Given the description of an element on the screen output the (x, y) to click on. 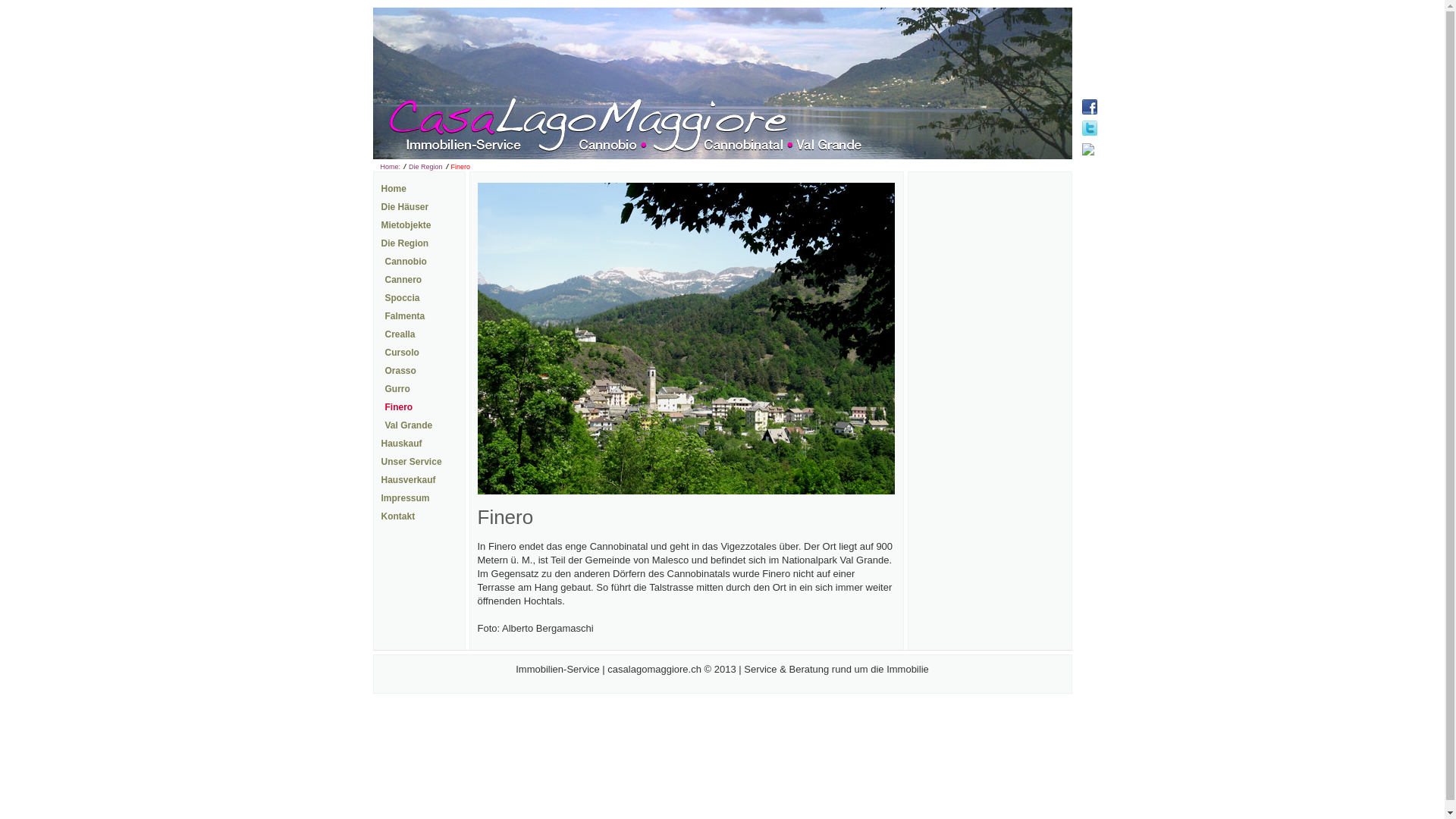
Falmenta Element type: text (405, 315)
3 Element type: text (692, 164)
Facebook Element type: hover (1088, 106)
Hausverkauf Element type: text (407, 479)
Cursolo Element type: text (402, 352)
5 Element type: text (729, 164)
Unser Service Element type: text (410, 461)
Home: Element type: text (390, 166)
Crealla Element type: text (400, 334)
Orasso Element type: text (400, 370)
6 Element type: text (748, 164)
Val Grande Element type: text (409, 425)
Cannero Element type: text (403, 279)
Hauskauf Element type: text (400, 443)
4 Element type: text (710, 164)
Die Region Element type: text (425, 166)
Gurro Element type: text (397, 388)
Die Region Element type: text (404, 243)
Home Element type: text (392, 188)
2 Element type: text (672, 164)
Cannobio Element type: text (405, 261)
Twitter Element type: hover (1089, 127)
Impressum Element type: text (404, 497)
Finero Element type: text (399, 406)
1 Element type: text (654, 164)
Kontakt Element type: text (397, 516)
Spoccia Element type: text (402, 297)
Mietobjekte Element type: text (405, 224)
